Given the description of an element on the screen output the (x, y) to click on. 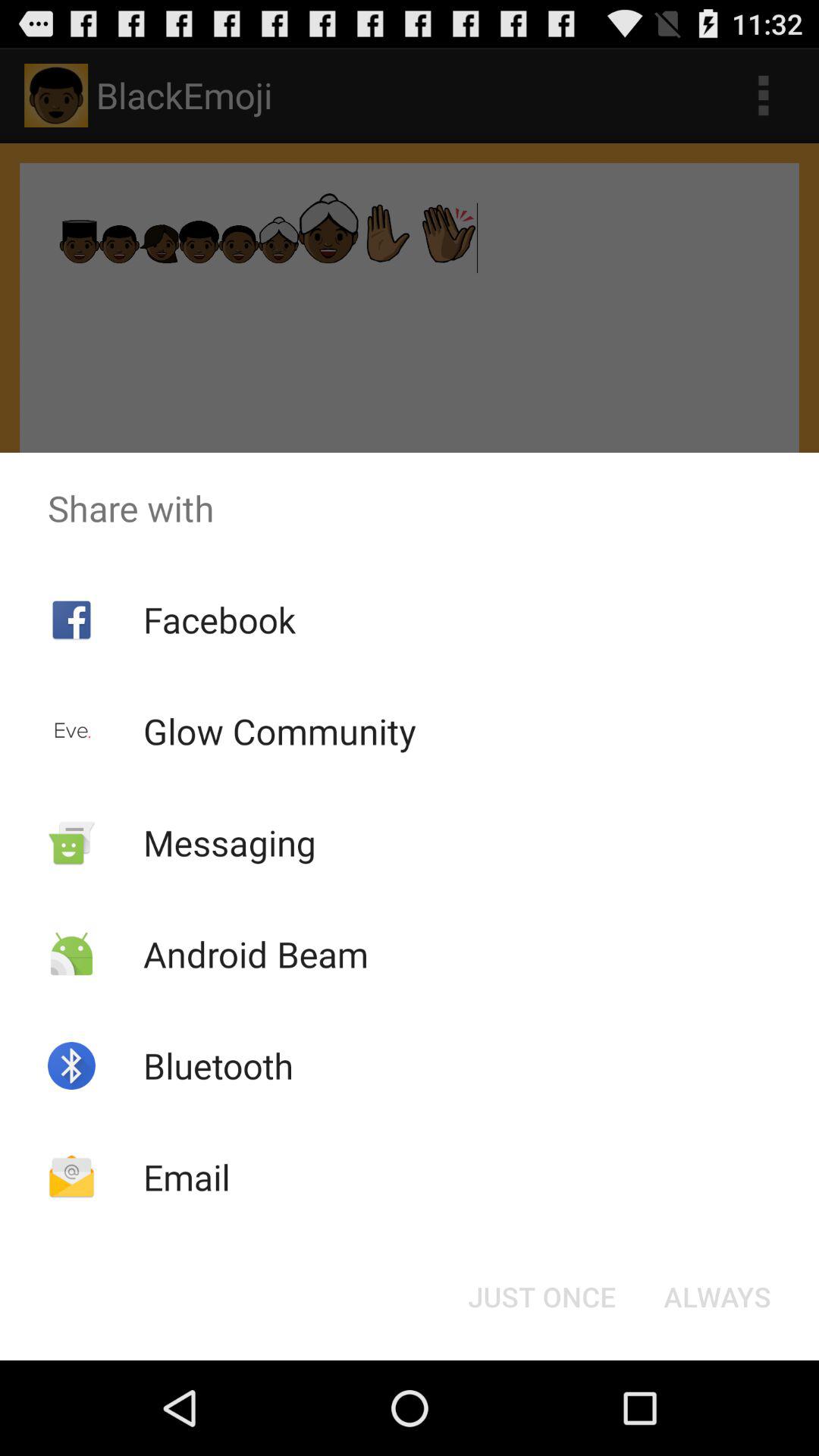
turn off always at the bottom right corner (717, 1296)
